Given the description of an element on the screen output the (x, y) to click on. 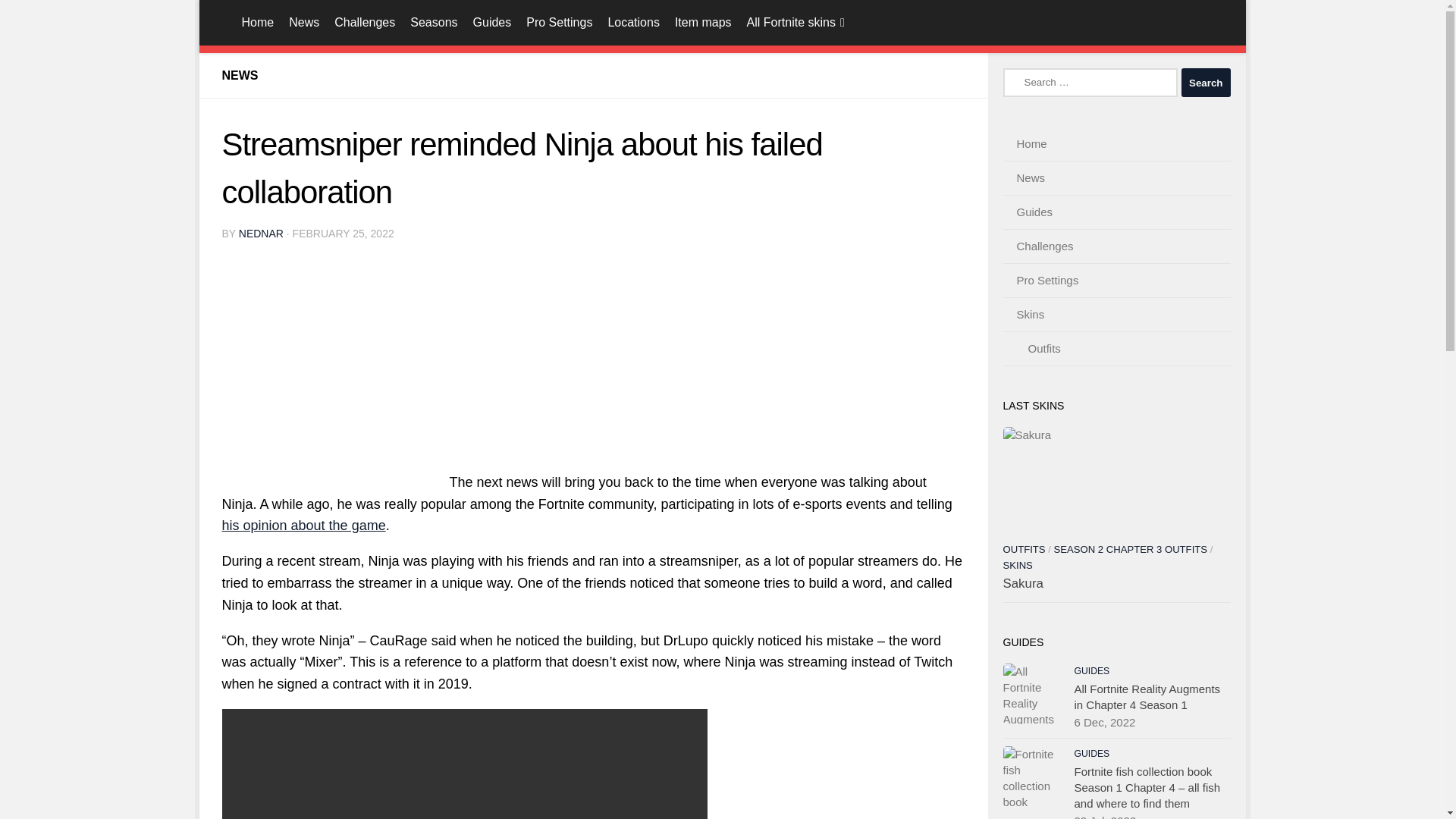
Pro Settings (558, 22)
News (303, 22)
Skip to content (263, 20)
All Fortnite Reality Augments in Chapter 4 Season 1   (1032, 693)
Guides (492, 22)
All Fortnite skins (795, 22)
Sakura   (1116, 479)
Streamsniper reminded Ninja about his failed collaboration   (334, 372)
NEWS (239, 74)
his opinion about the game (303, 525)
NEDNAR (260, 233)
Home (239, 22)
Challenges (364, 22)
Search (1205, 82)
